Given the description of an element on the screen output the (x, y) to click on. 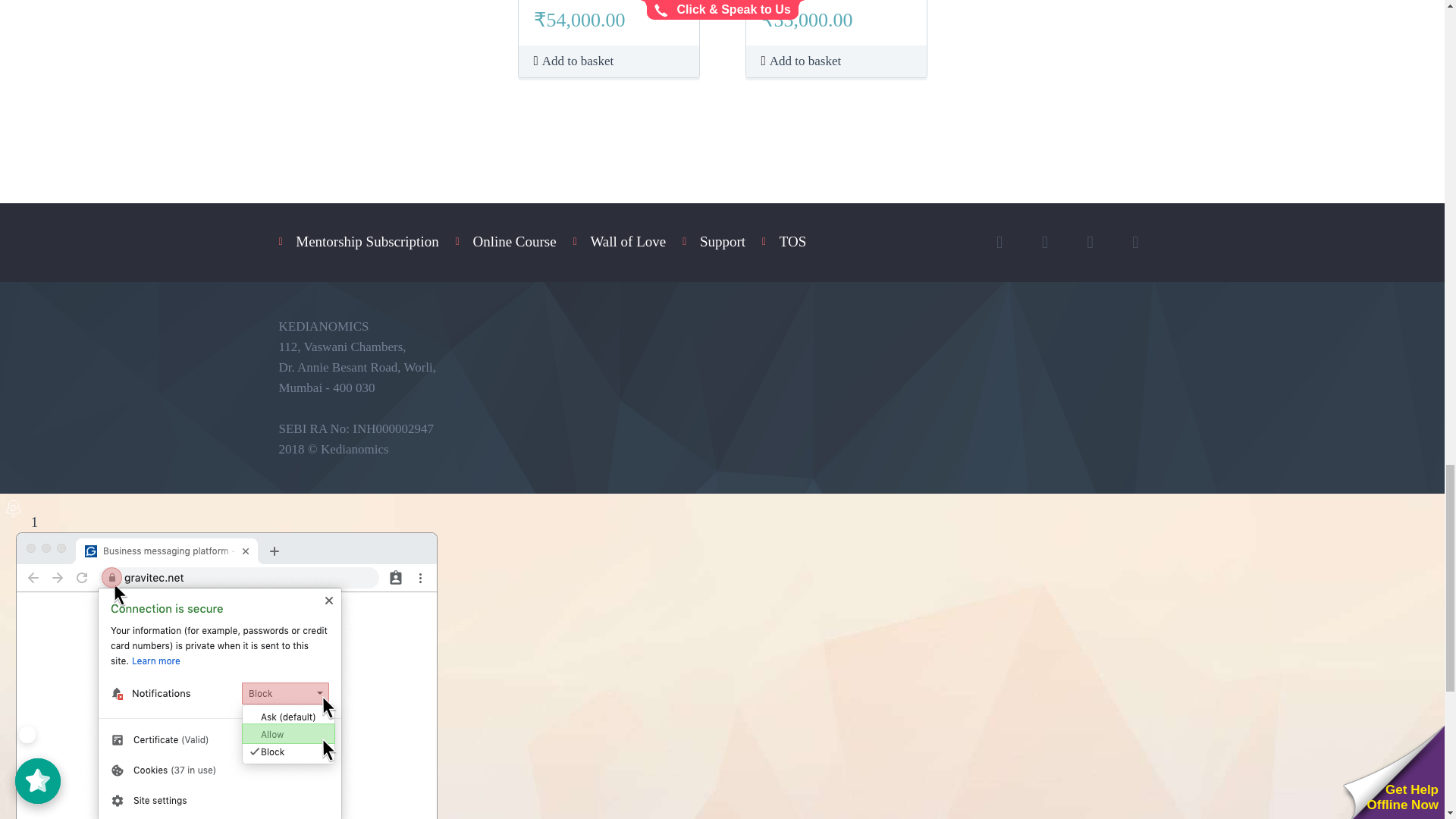
Wall of Love (627, 241)
Support (722, 241)
Mentorship Subscription (366, 241)
TOS (792, 241)
Add to basket (574, 61)
Add to basket (801, 61)
Online Course (513, 241)
